Given the description of an element on the screen output the (x, y) to click on. 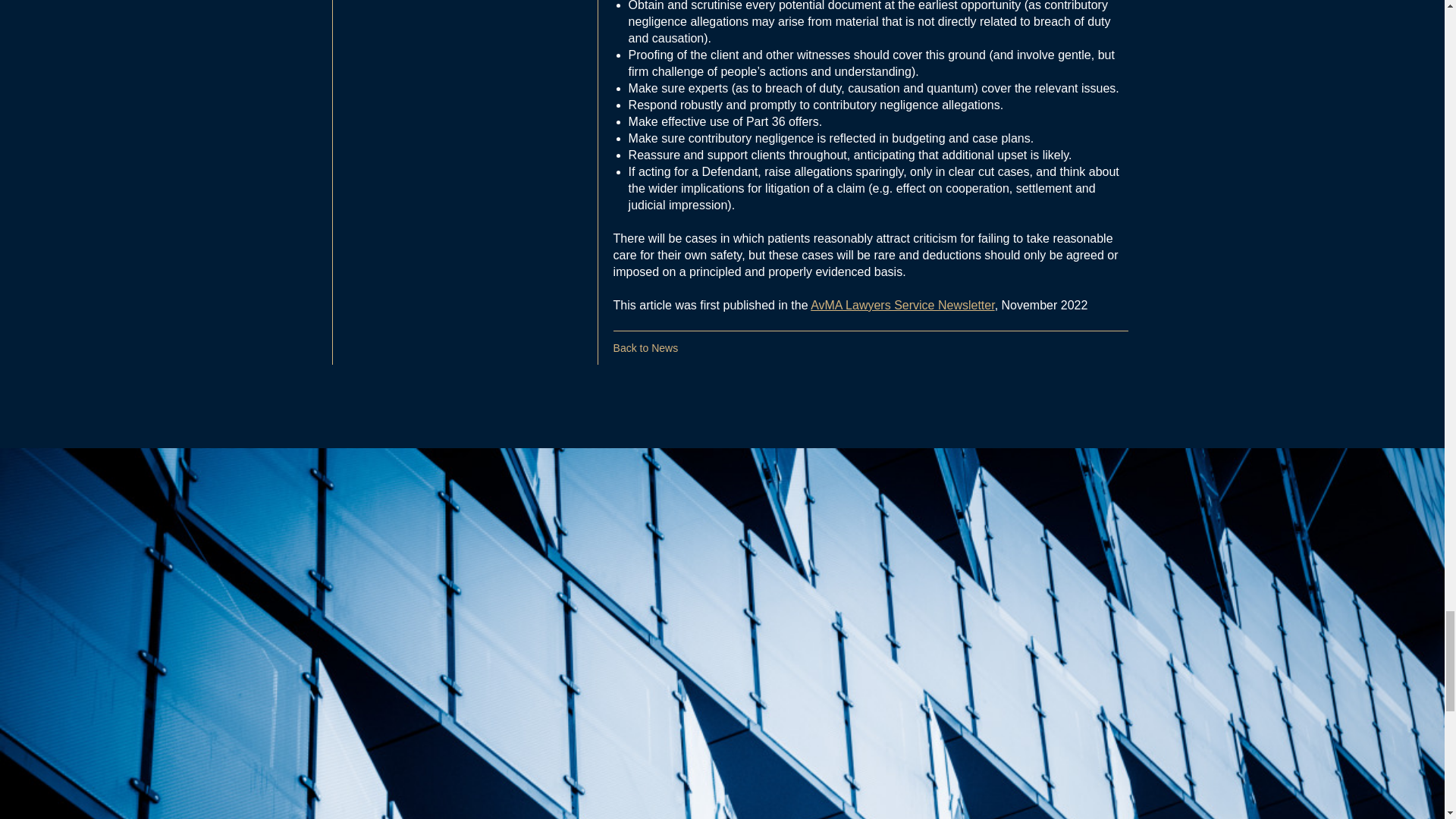
AvMA Lawyers Service Newsletter (902, 305)
Back to News (645, 347)
